Given the description of an element on the screen output the (x, y) to click on. 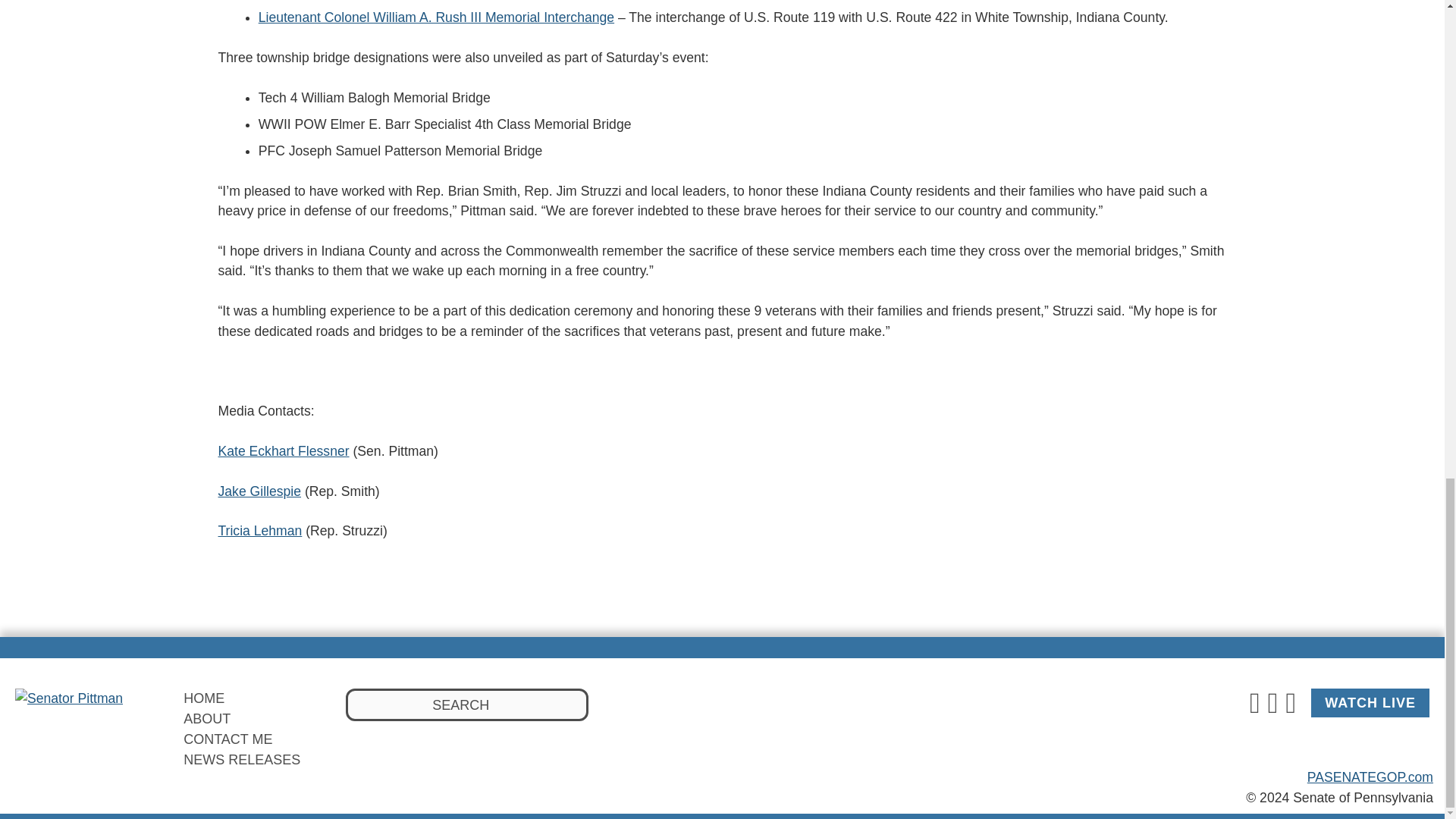
Lieutenant Colonel William A. Rush III Memorial Interchange (436, 17)
